Given the description of an element on the screen output the (x, y) to click on. 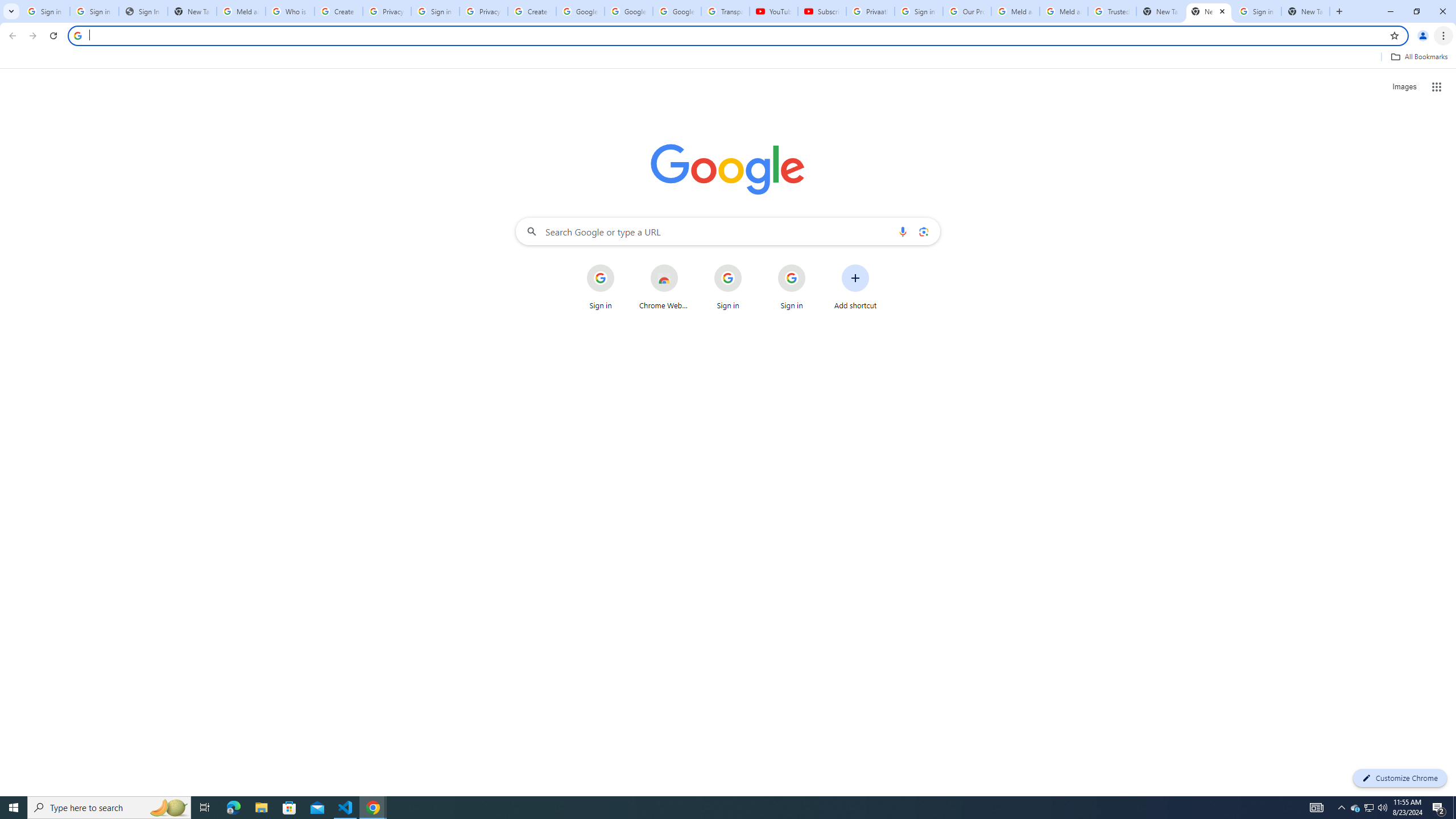
Search tabs (10, 11)
Trusted Information and Content - Google Safety Center (1112, 11)
All Bookmarks (1418, 56)
Reload (52, 35)
Search Google or type a URL (727, 230)
Google apps (1436, 86)
Create your Google Account (532, 11)
You (1422, 35)
Sign in - Google Accounts (918, 11)
Bookmark this tab (1393, 35)
